Given the description of an element on the screen output the (x, y) to click on. 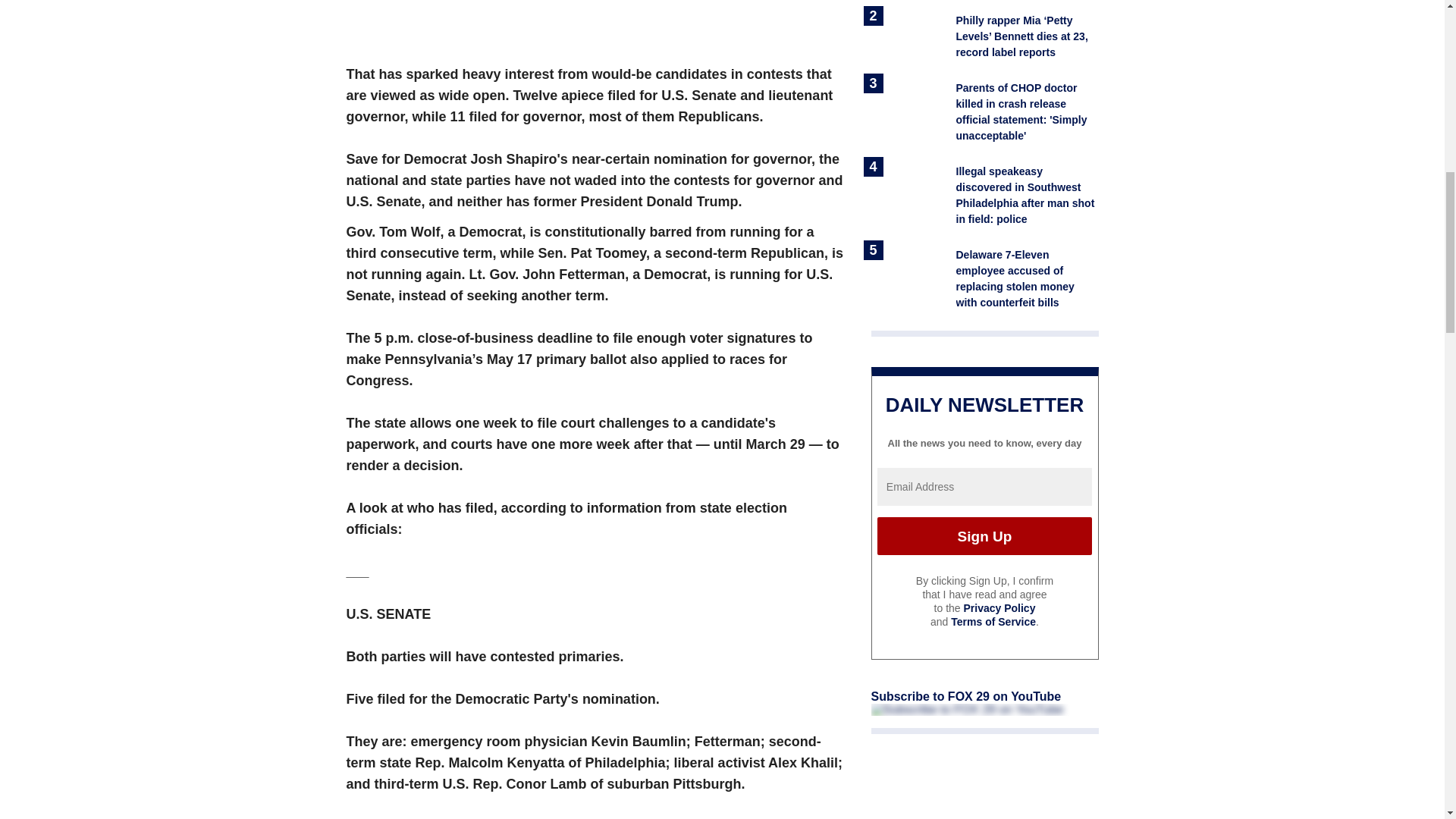
Sign Up (984, 535)
